Given the description of an element on the screen output the (x, y) to click on. 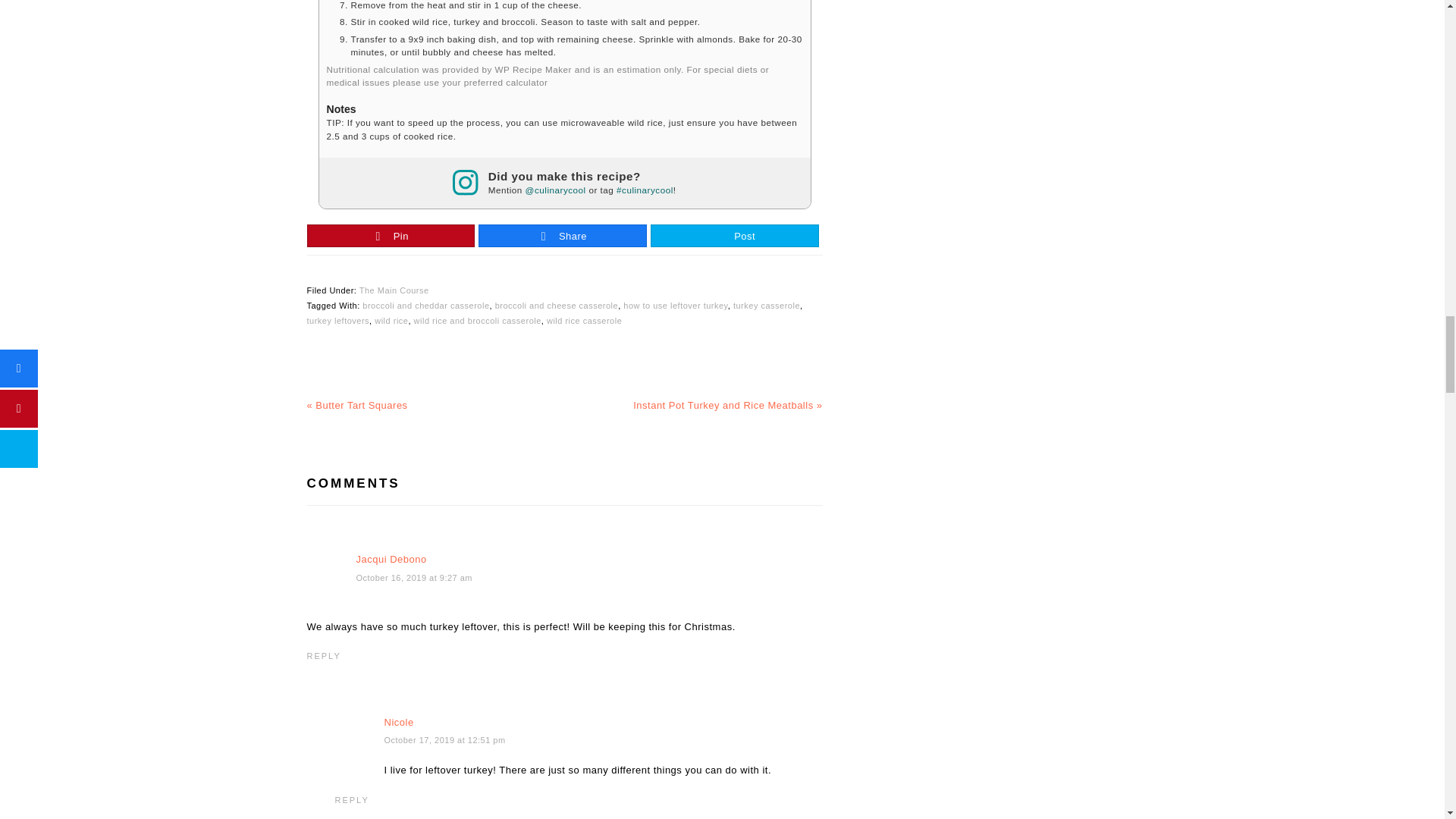
wild rice and broccoli casserole (477, 320)
how to use leftover turkey (675, 305)
Share (562, 236)
broccoli and cheese casserole (556, 305)
turkey leftovers (337, 320)
wild rice casserole (584, 320)
The Main Course (394, 289)
Post (734, 236)
broccoli and cheddar casserole (425, 305)
turkey casserole (766, 305)
